Given the description of an element on the screen output the (x, y) to click on. 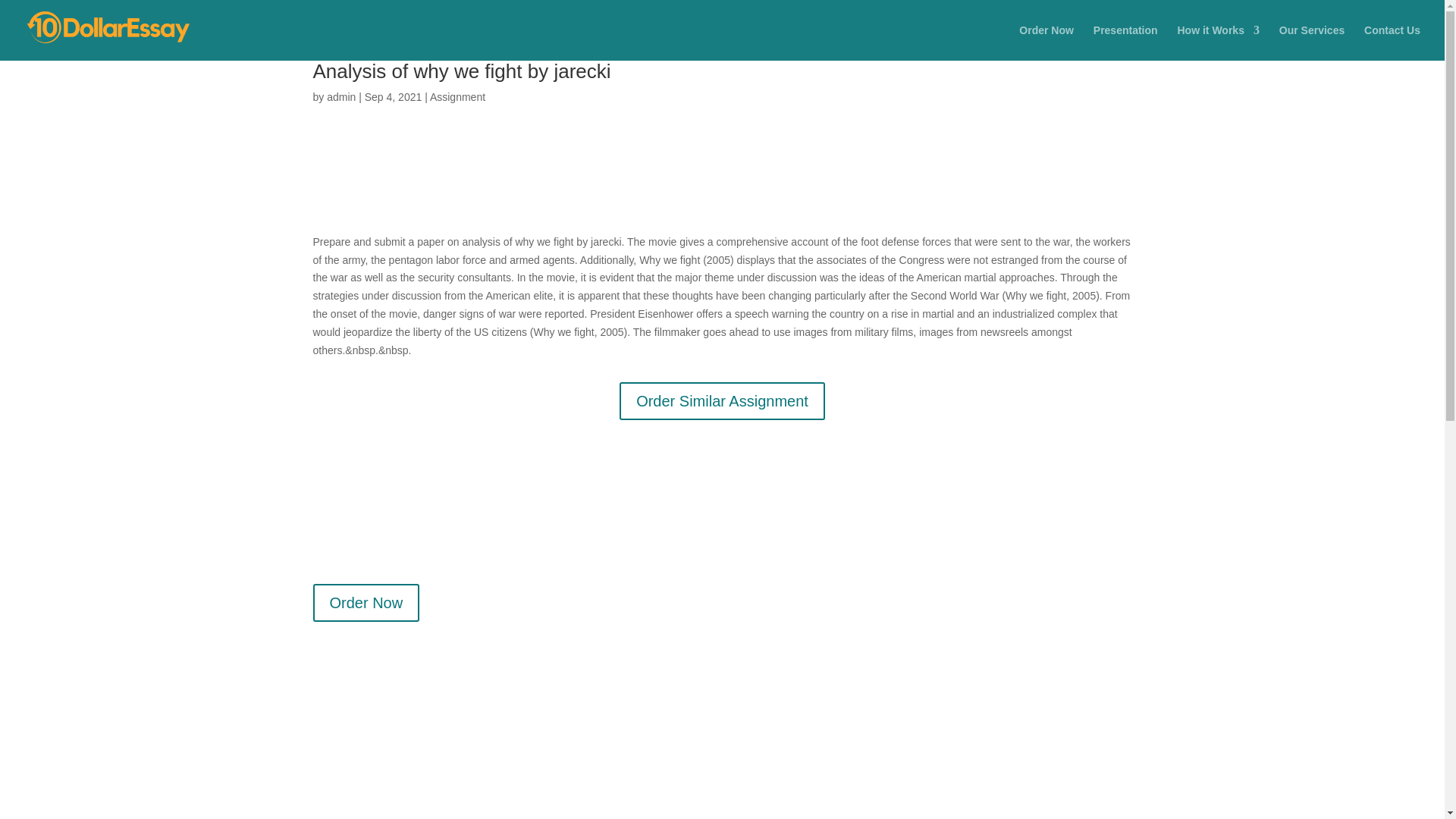
Order Now (1046, 42)
Our Services (1311, 42)
Contact Us (1392, 42)
Posts by admin (340, 96)
Presentation (1125, 42)
How it Works (1217, 42)
Assignment (456, 96)
Order Similar Assignment (722, 401)
admin (340, 96)
Order Now (366, 602)
